Given the description of an element on the screen output the (x, y) to click on. 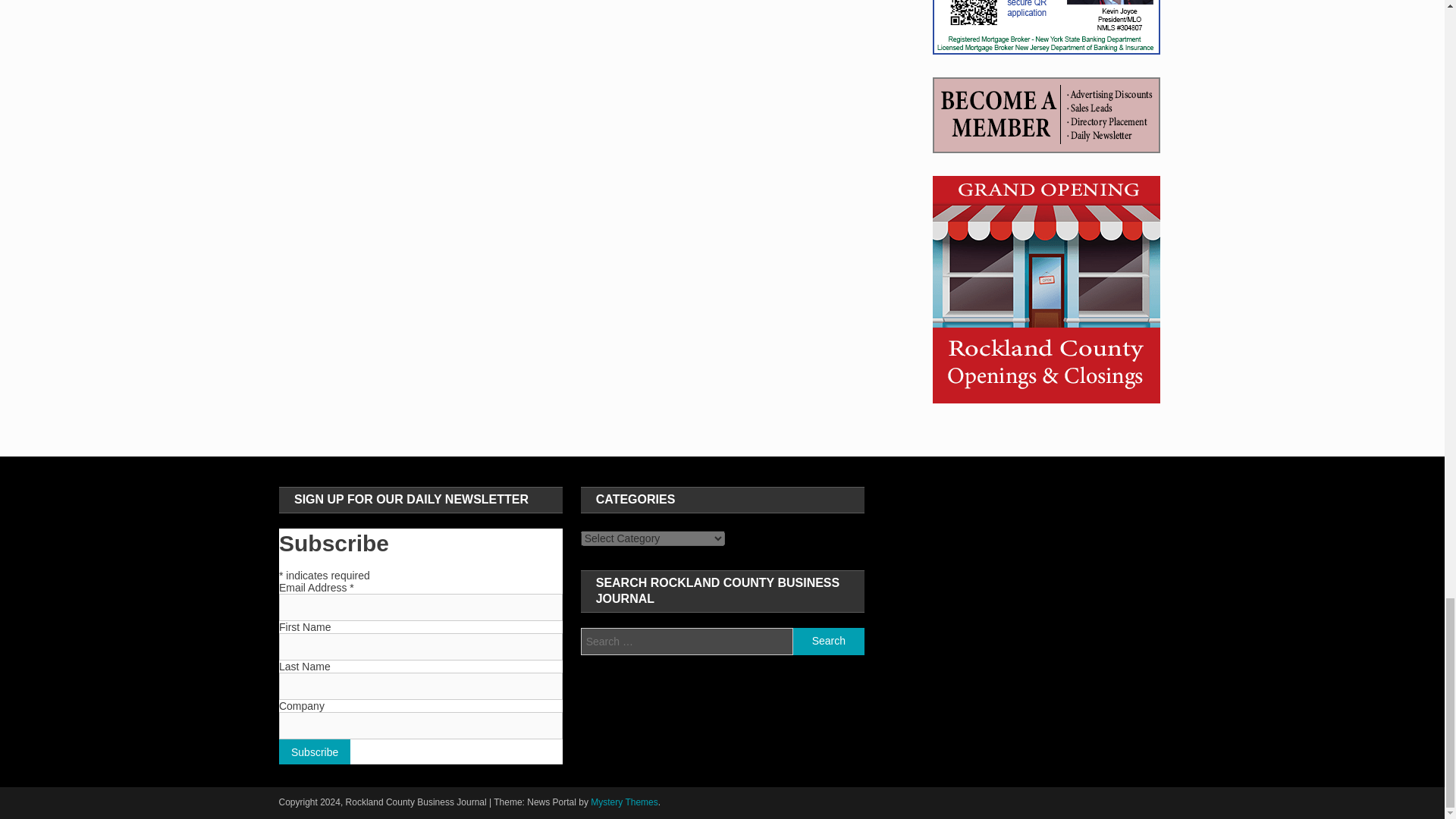
Search (828, 641)
Search (828, 641)
Subscribe (314, 751)
